Given the description of an element on the screen output the (x, y) to click on. 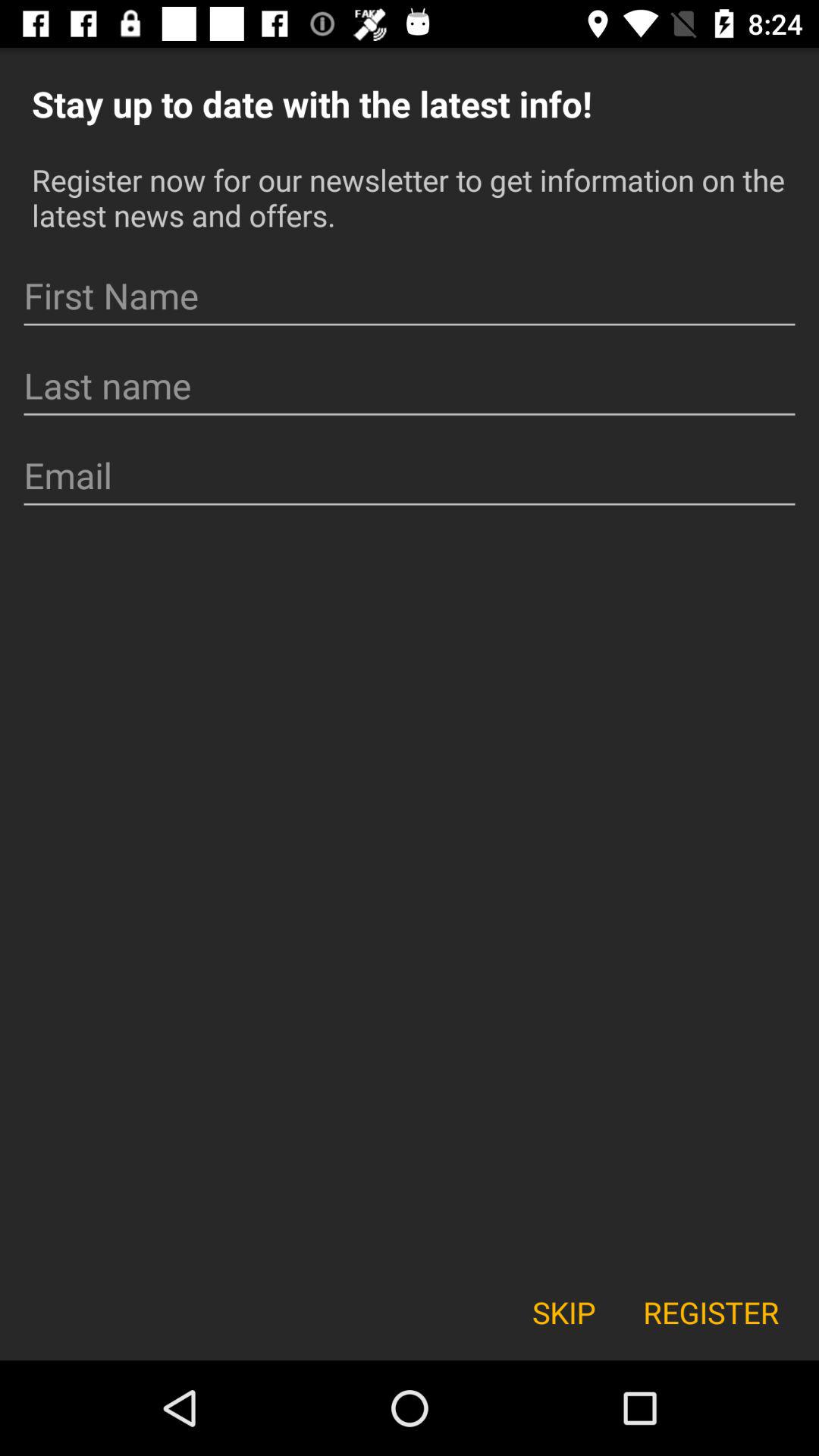
turn on item below register now for icon (409, 296)
